Given the description of an element on the screen output the (x, y) to click on. 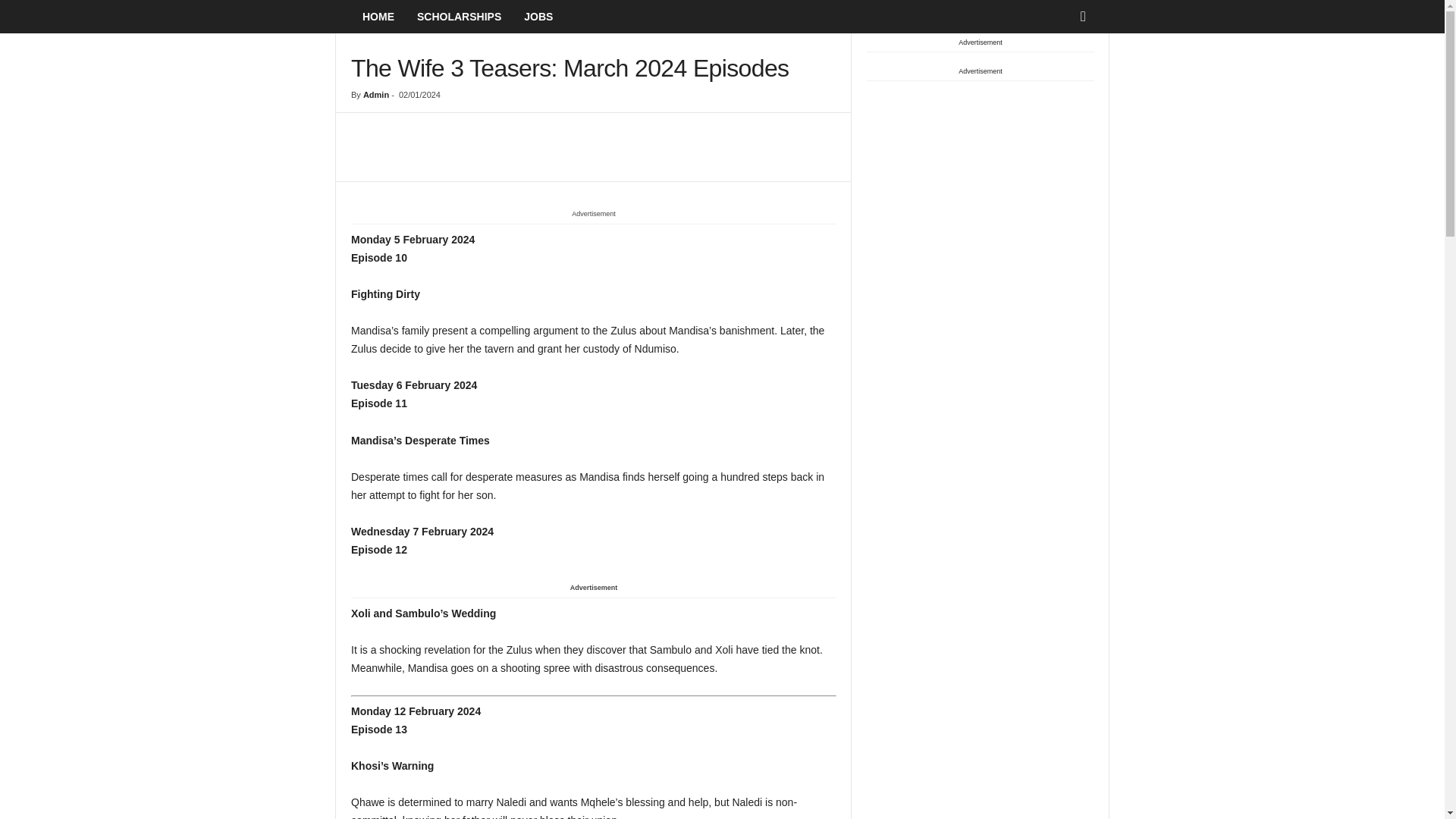
HOME (378, 16)
Admin (375, 94)
SCHOLARSHIPS (459, 16)
JOBS (538, 16)
